Given the description of an element on the screen output the (x, y) to click on. 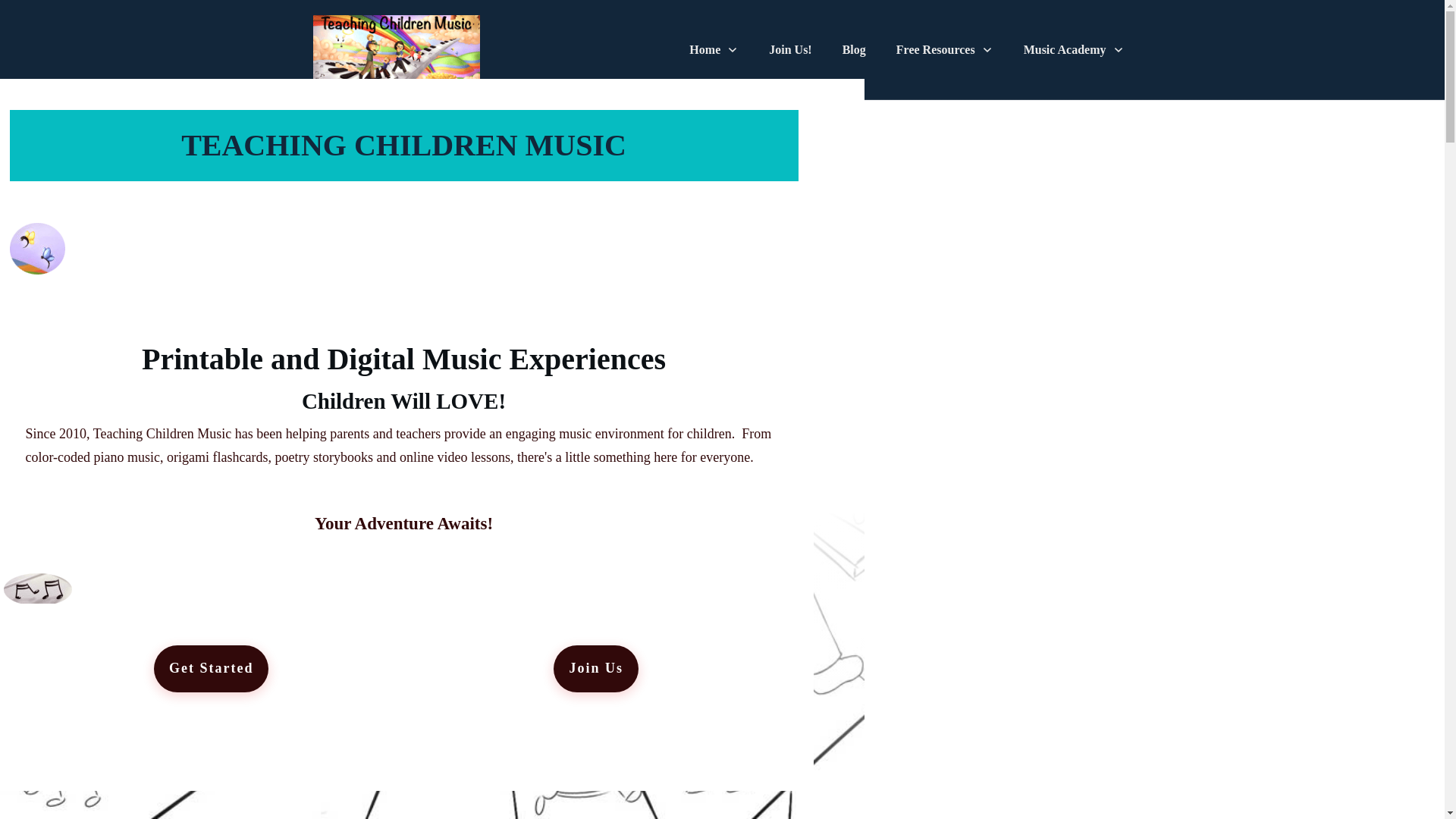
Blog (854, 49)
Join Us! (789, 49)
Join Us (596, 668)
butterflies (36, 248)
Music Academy (1073, 49)
notes (36, 588)
Get Started (210, 668)
Get Started (210, 668)
Home (713, 49)
Free Resources (944, 49)
